Given the description of an element on the screen output the (x, y) to click on. 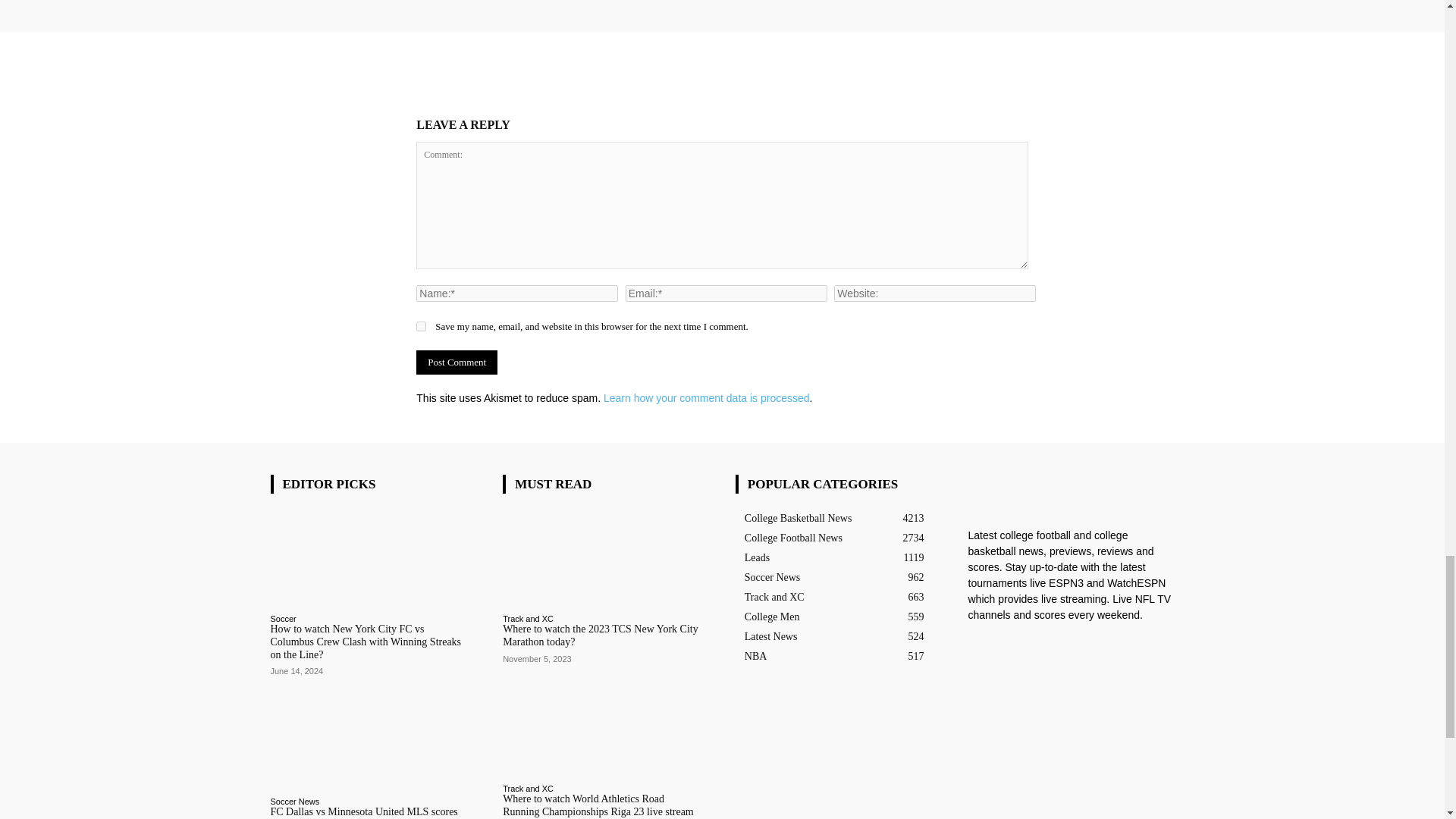
Post Comment (456, 362)
yes (421, 326)
